Given the description of an element on the screen output the (x, y) to click on. 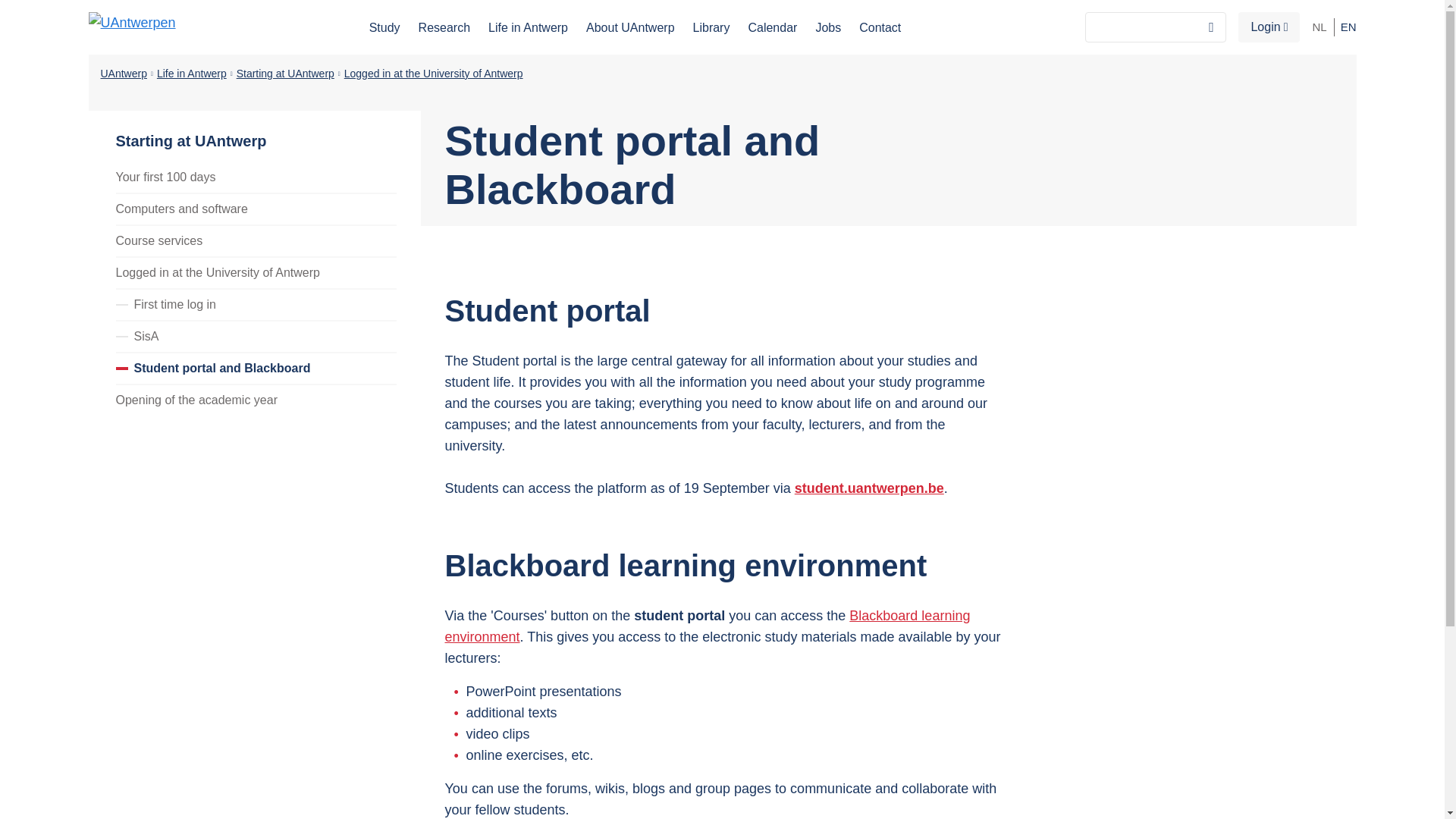
Jobs (828, 27)
Logged in at the University of Antwerp (432, 73)
Starting at UAntwerp (284, 73)
Course services (255, 240)
Study (384, 27)
EN (1348, 26)
Blackboard learning environment (706, 626)
First time log in (255, 304)
Calendar (772, 27)
search (1210, 27)
Computers and software (255, 208)
Starting at UAntwerp (261, 129)
Contact (880, 27)
Login (1269, 27)
Life in Antwerp (192, 73)
